Given the description of an element on the screen output the (x, y) to click on. 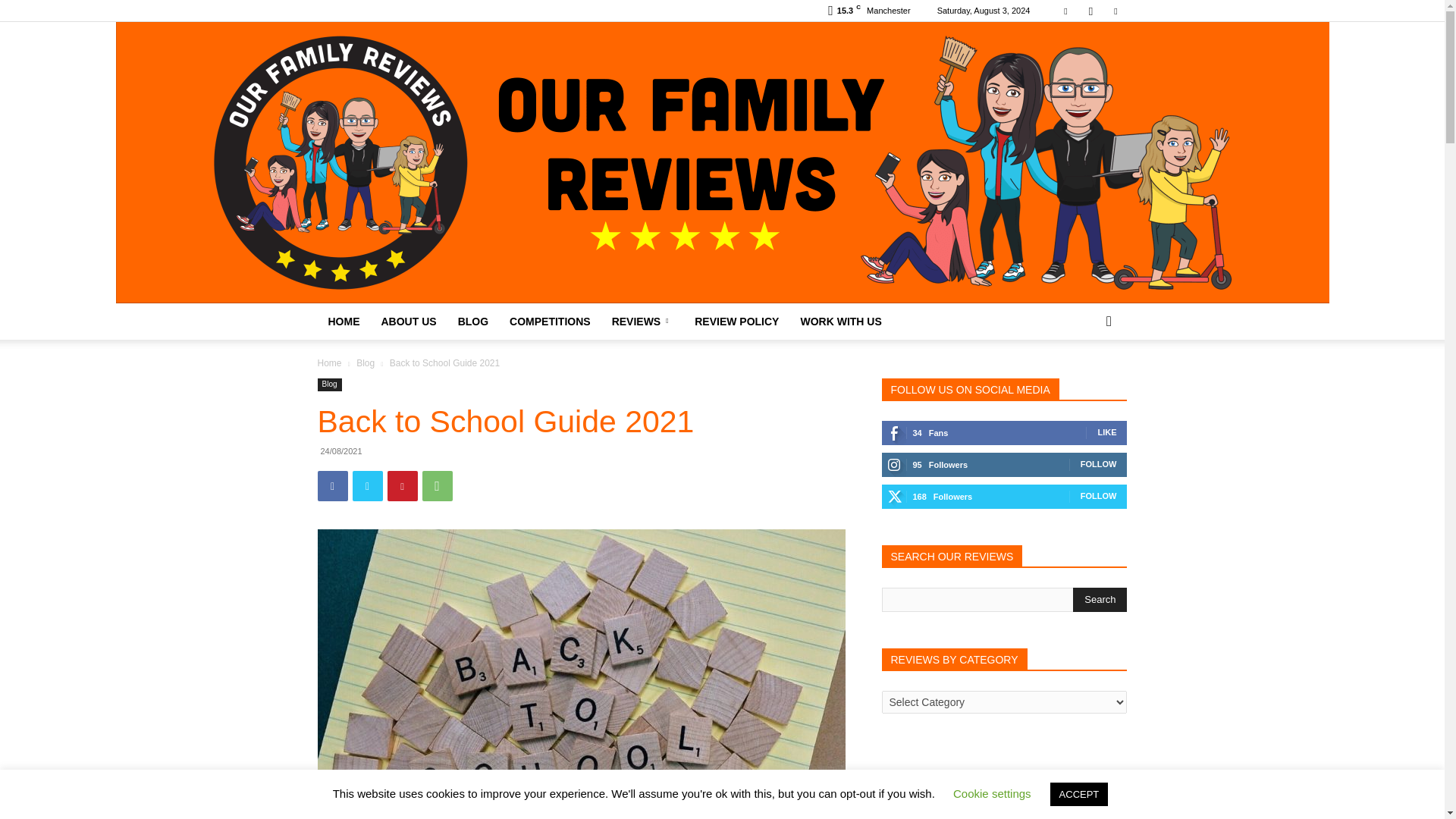
ABOUT US (407, 321)
BLOG (472, 321)
Facebook (332, 485)
View all posts in Blog (365, 362)
Instagram (1090, 10)
Twitter (366, 485)
COMPETITIONS (550, 321)
Twitter (1114, 10)
Search (1099, 599)
